Given the description of an element on the screen output the (x, y) to click on. 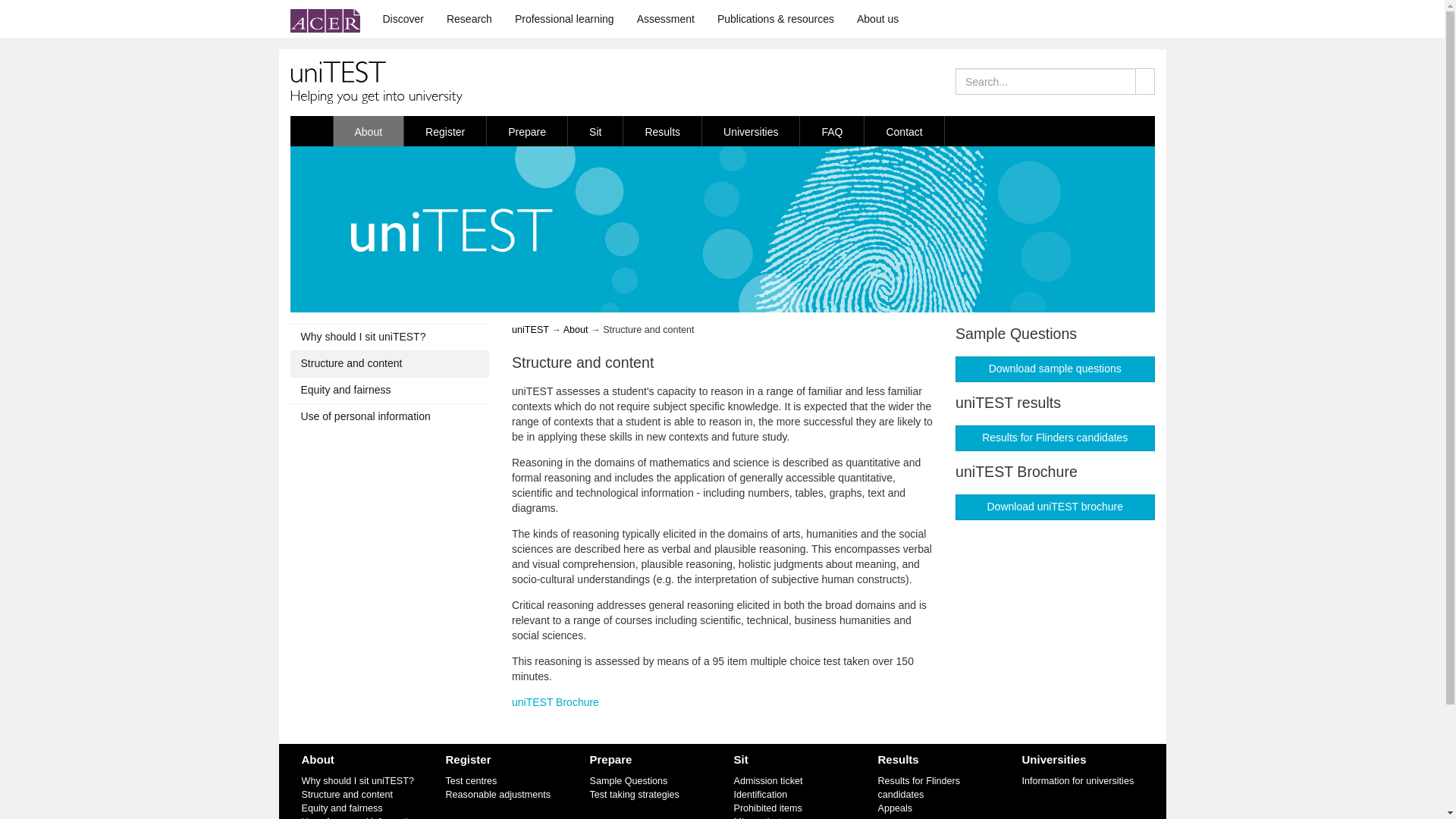
Universities (750, 131)
Download uniTEST brochure (1054, 507)
uniTEST (530, 329)
Why should I sit uniTEST? (357, 780)
Prepare (526, 131)
uniTEST Brochure (555, 702)
FAQ (831, 131)
Equity and fairness (389, 390)
Discover (403, 18)
Structure and content (389, 363)
About (317, 758)
Assessment (666, 18)
Download sample questions (1054, 369)
Home (311, 131)
Results for Flinders candidates (1054, 438)
